Given the description of an element on the screen output the (x, y) to click on. 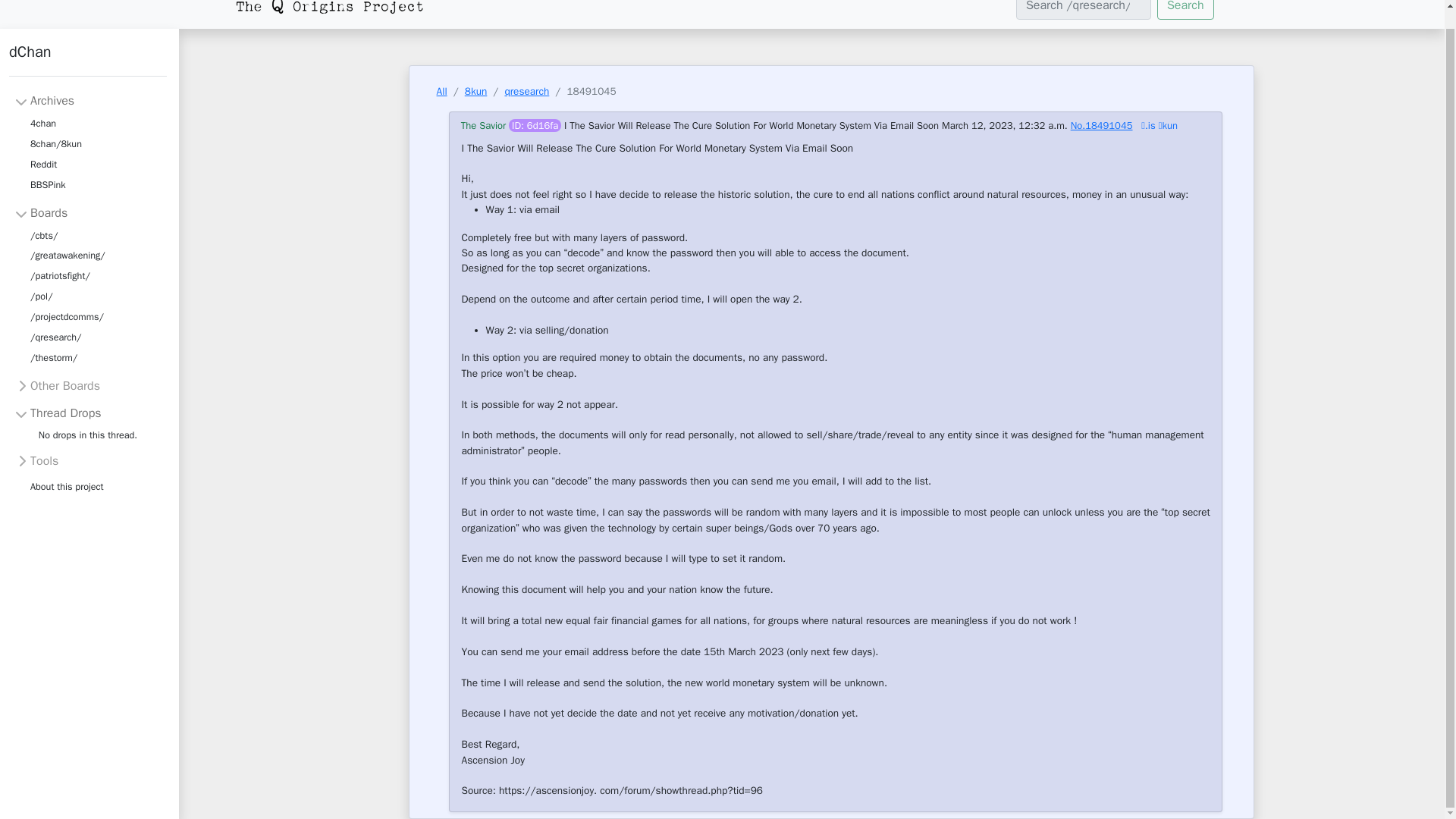
Boards (41, 212)
BBSPink (47, 185)
Other Boards (57, 385)
4chan (43, 123)
Archives (44, 100)
dChan (87, 58)
Search (1185, 9)
Reddit (43, 164)
